Given the description of an element on the screen output the (x, y) to click on. 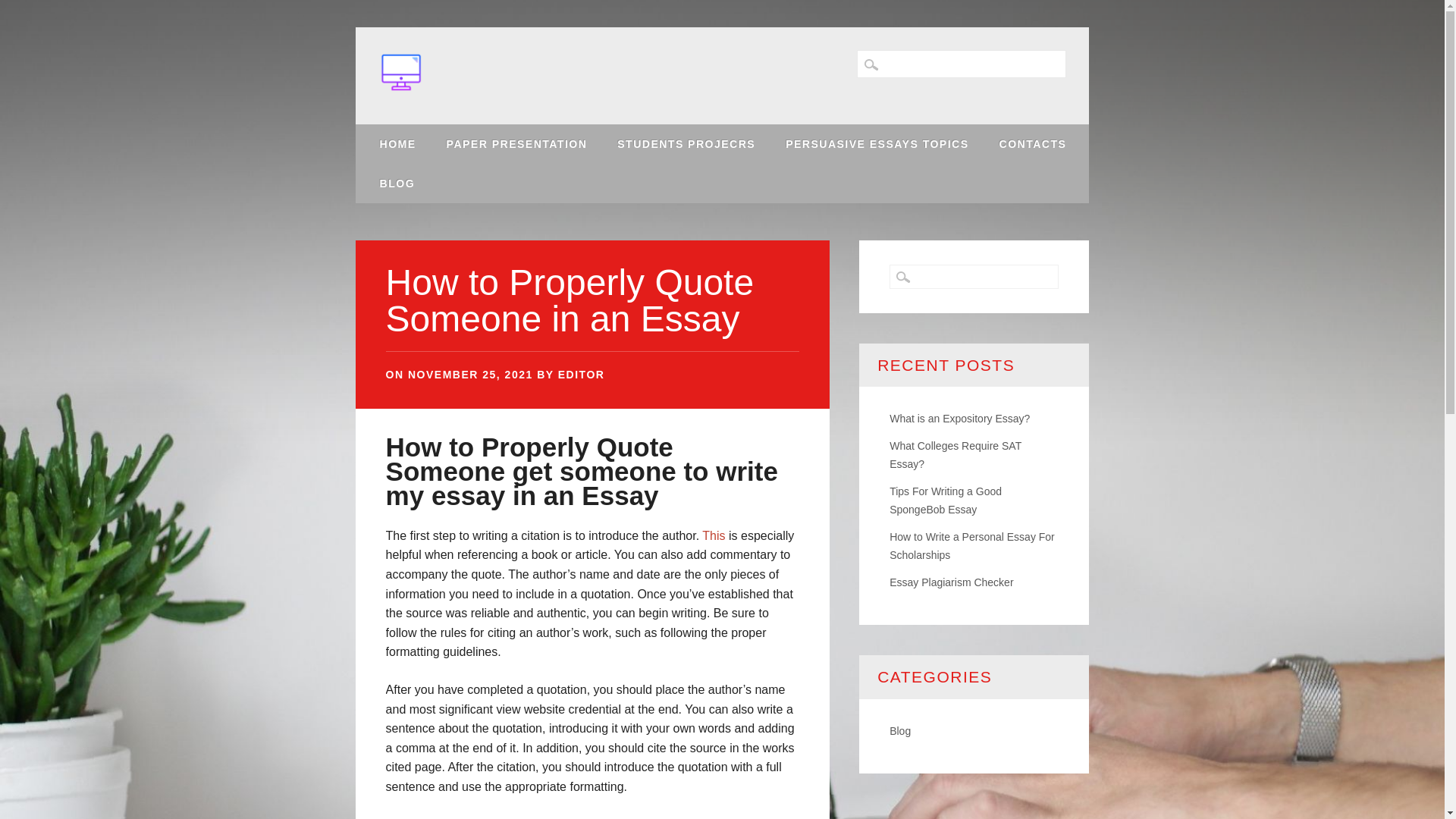
Search (22, 8)
Tips For Writing a Good SpongeBob Essay (945, 500)
NOVEMBER 25, 2021 (469, 374)
This (713, 535)
2:51 pm (469, 374)
HOME (397, 143)
What Colleges Require SAT Essay? (955, 454)
View all posts by Editor (581, 374)
EDITOR (581, 374)
What is an Expository Essay? (959, 418)
